Given the description of an element on the screen output the (x, y) to click on. 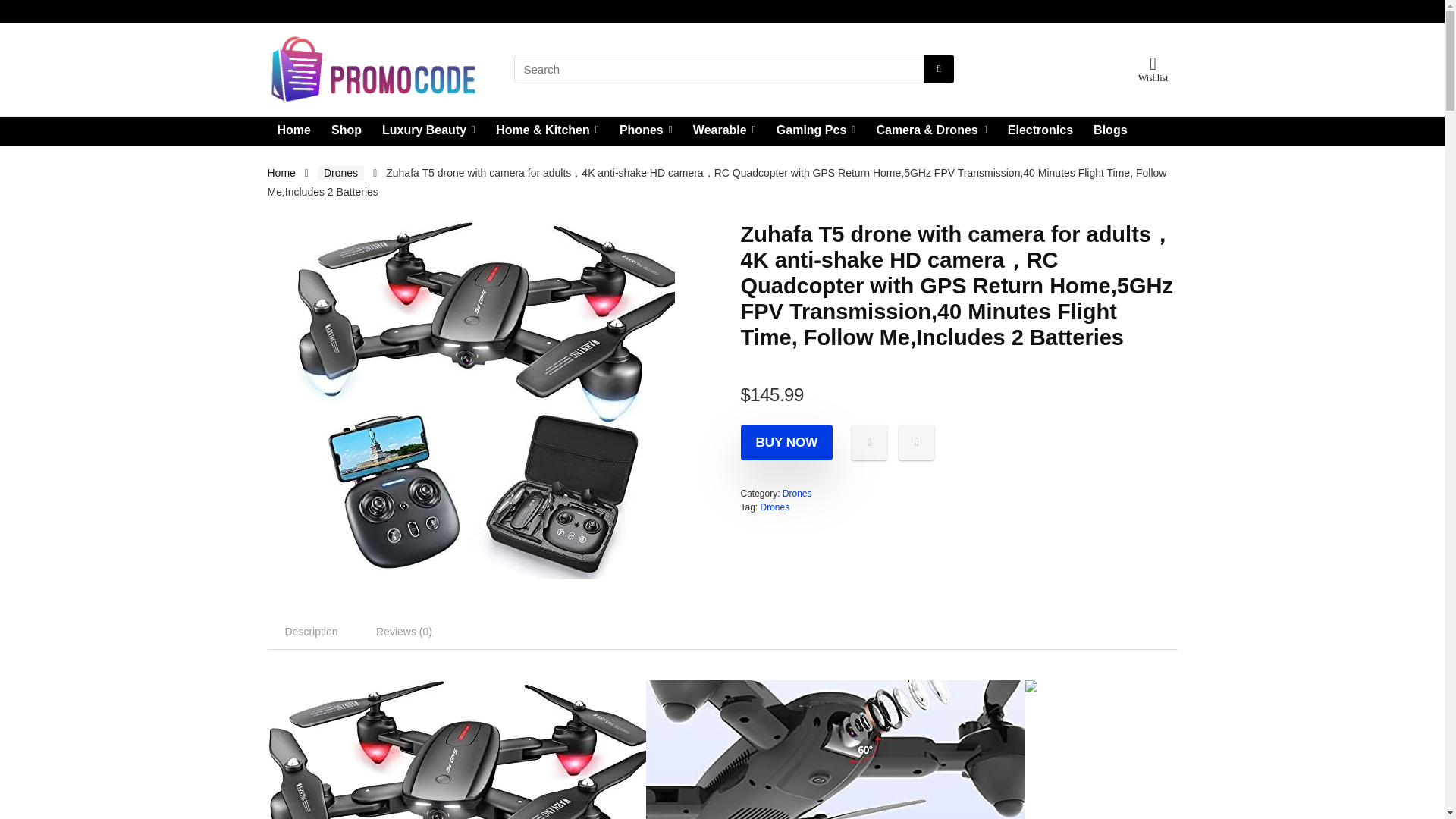
Wearable (723, 131)
Drones (797, 493)
Luxury Beauty (428, 131)
Shop (346, 131)
Electronics (1040, 131)
Phones (646, 131)
Gaming Pcs (816, 131)
BUY NOW (785, 442)
Drones (340, 172)
Home (280, 173)
